Given the description of an element on the screen output the (x, y) to click on. 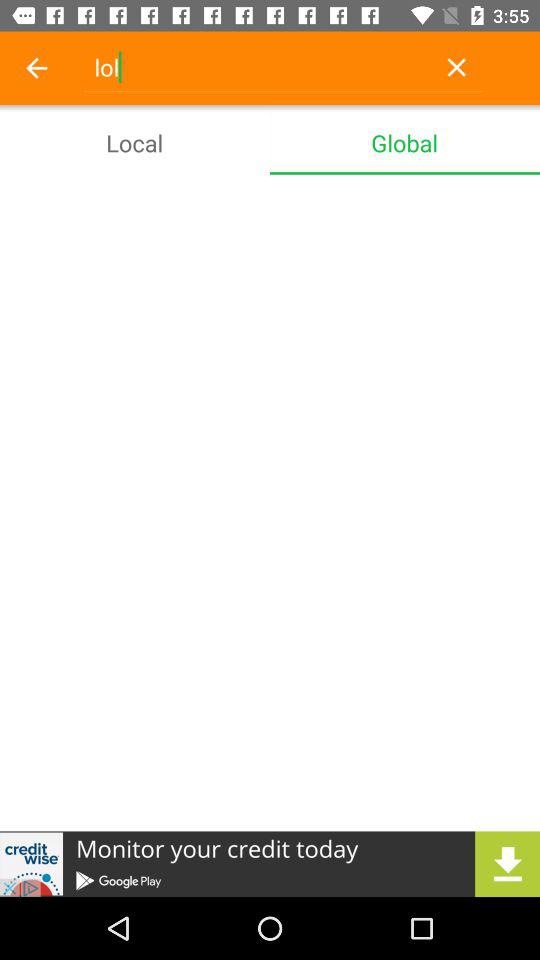
add banner (270, 864)
